Given the description of an element on the screen output the (x, y) to click on. 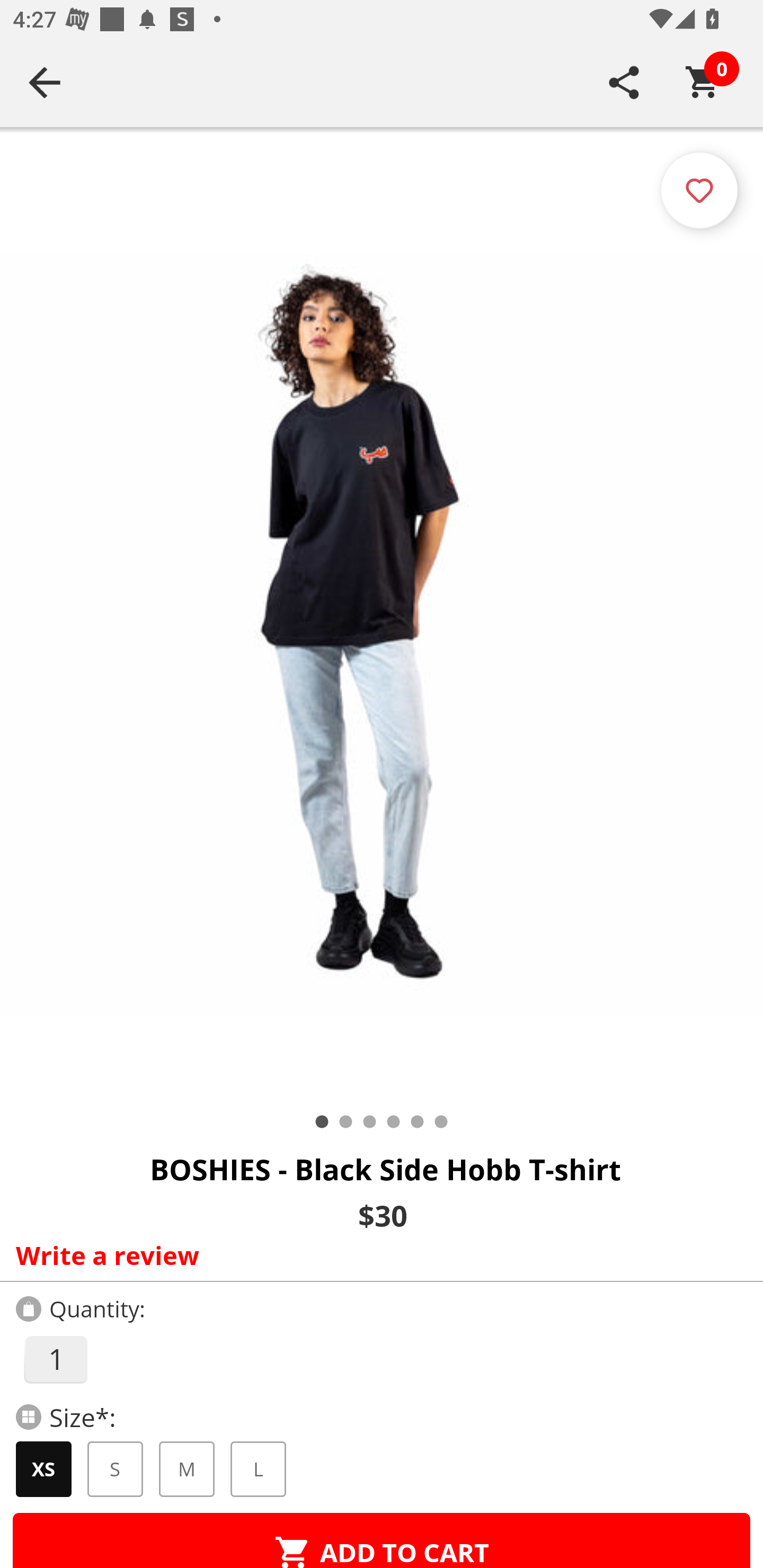
Navigate up (44, 82)
SHARE (623, 82)
Cart (703, 81)
Write a review (377, 1255)
1 (55, 1358)
XS (43, 1468)
S (115, 1468)
M (186, 1468)
L (258, 1468)
ADD TO CART (381, 1540)
